Given the description of an element on the screen output the (x, y) to click on. 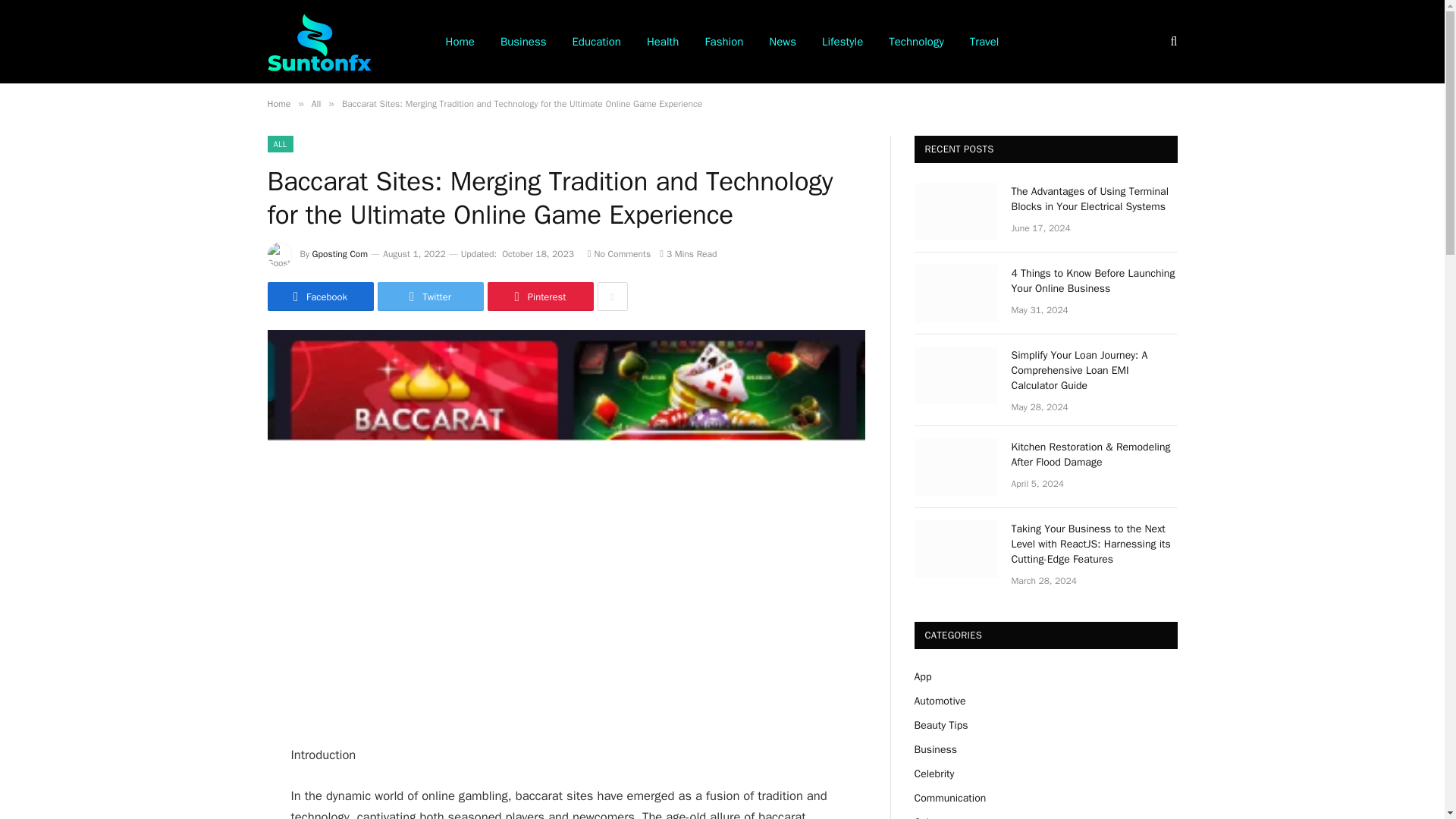
Gposting Com (340, 254)
Education (596, 41)
Share on Facebook (319, 296)
No Comments (619, 254)
Posts by Gposting Com (340, 254)
Suntonfx.com (318, 40)
Share on Pinterest (539, 296)
Home (277, 103)
Facebook (319, 296)
Technology (916, 41)
Pinterest (539, 296)
Twitter (430, 296)
ALL (279, 143)
Show More Social Sharing (611, 296)
